Given the description of an element on the screen output the (x, y) to click on. 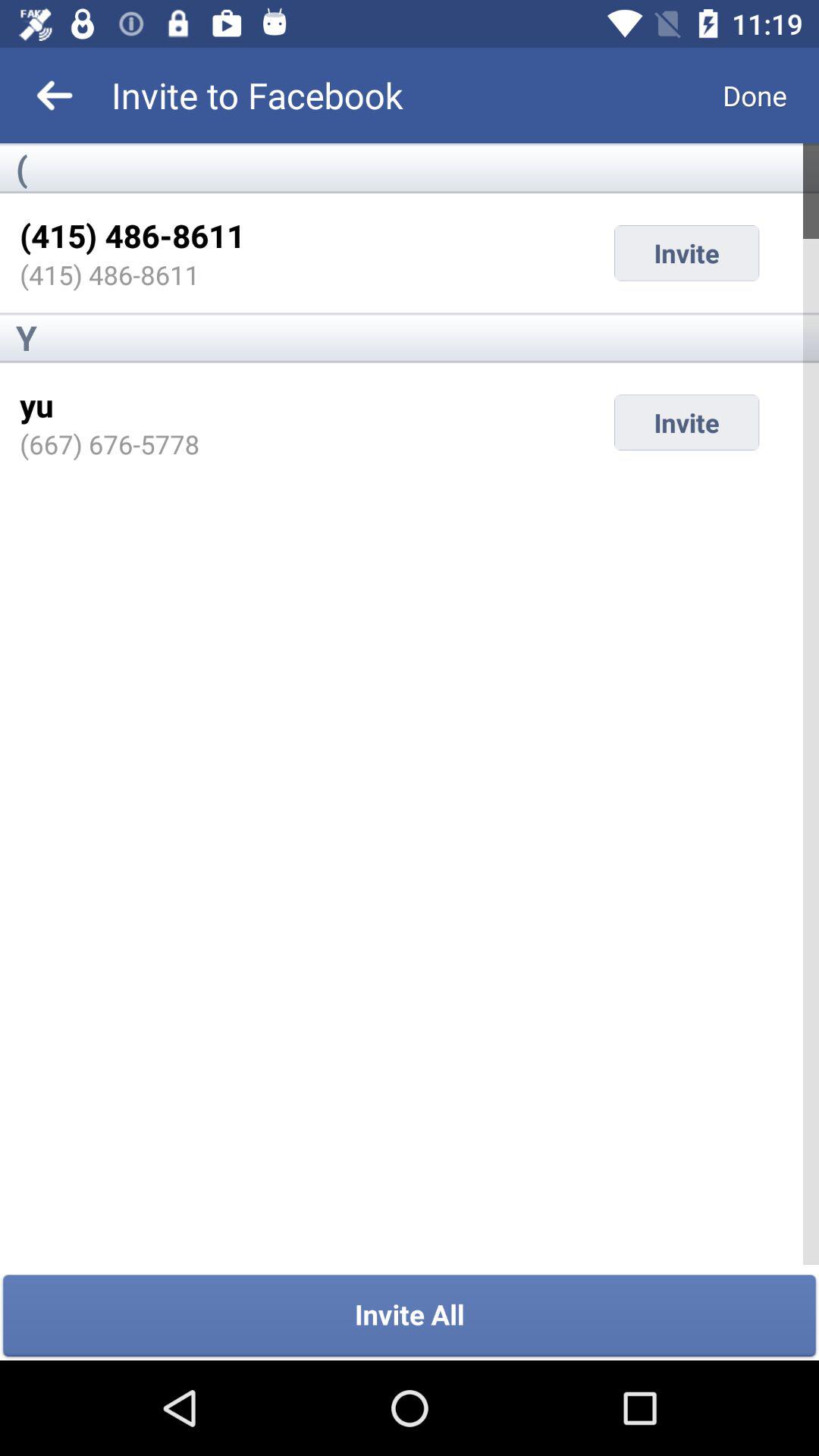
launch the item to the left of the invite item (109, 443)
